Given the description of an element on the screen output the (x, y) to click on. 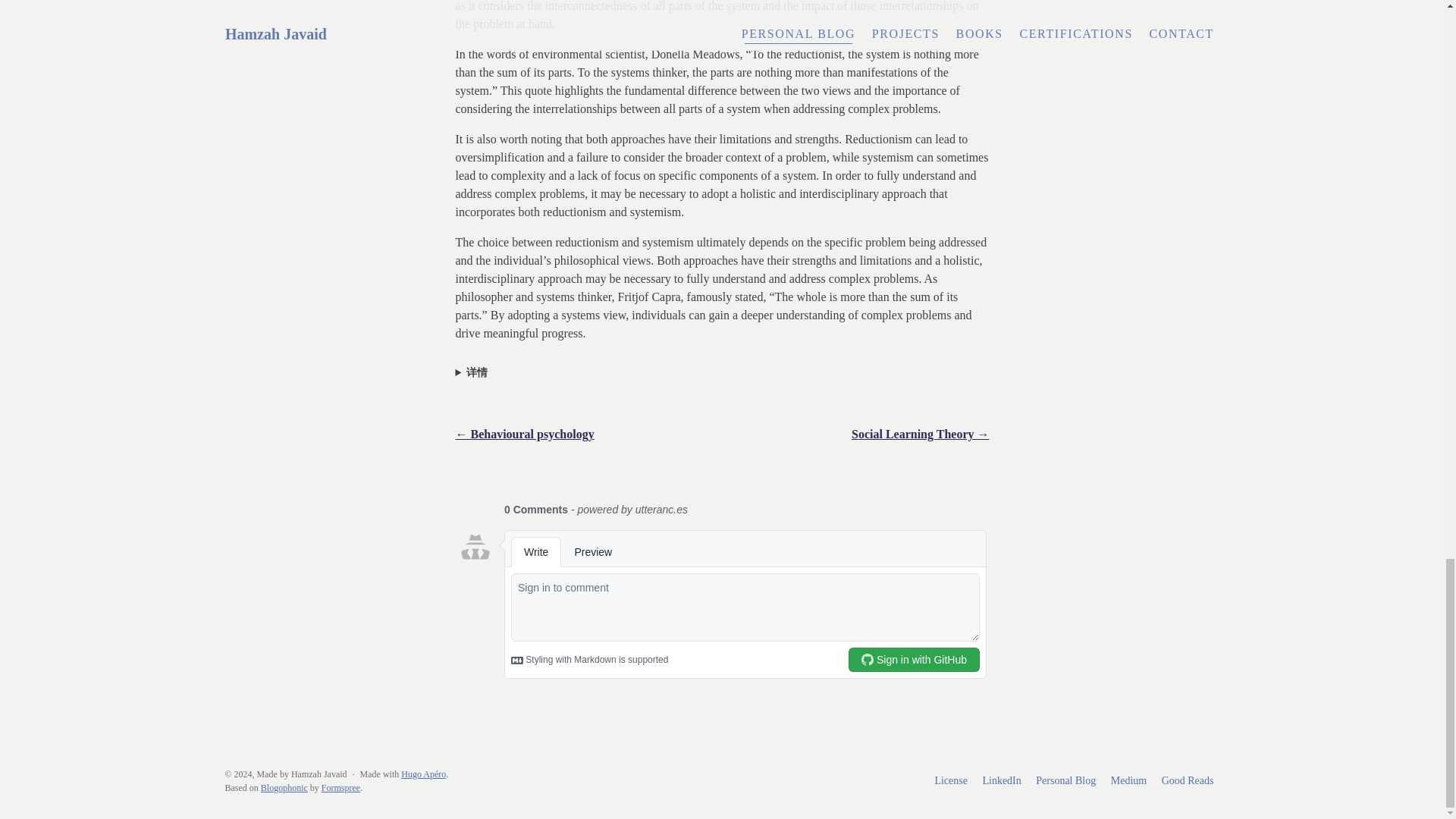
LinkedIn (1000, 781)
Medium (1129, 781)
Good Reads (1188, 781)
License (951, 781)
Formspree (340, 787)
Personal Blog (1065, 781)
License (951, 781)
Good Reeds (1188, 781)
Comments (721, 591)
Personal Blog (1065, 781)
